Given the description of an element on the screen output the (x, y) to click on. 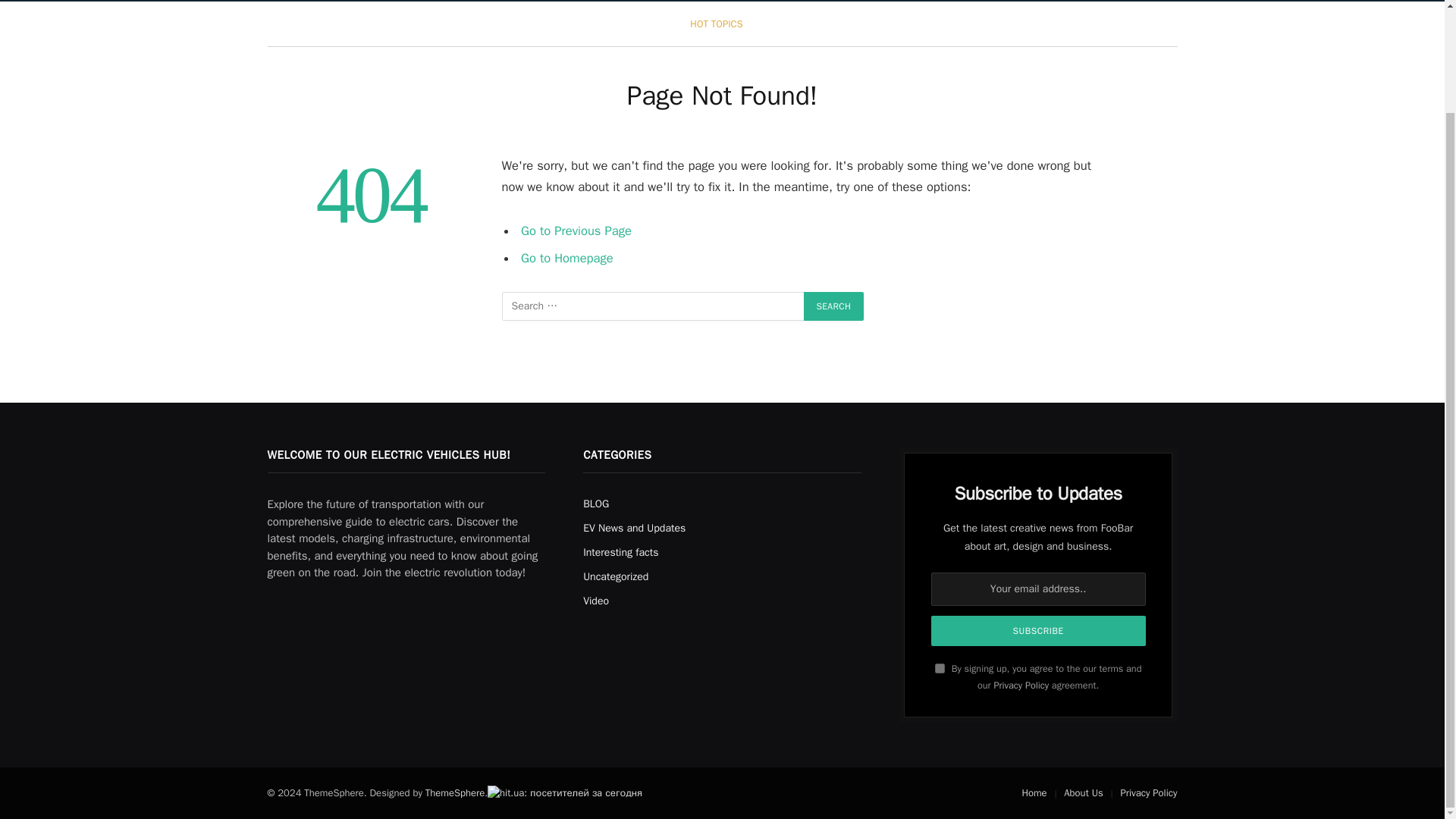
Search (833, 306)
Subscribe (1038, 630)
on (939, 668)
Search (833, 306)
Go to Previous Page (576, 230)
